Given the description of an element on the screen output the (x, y) to click on. 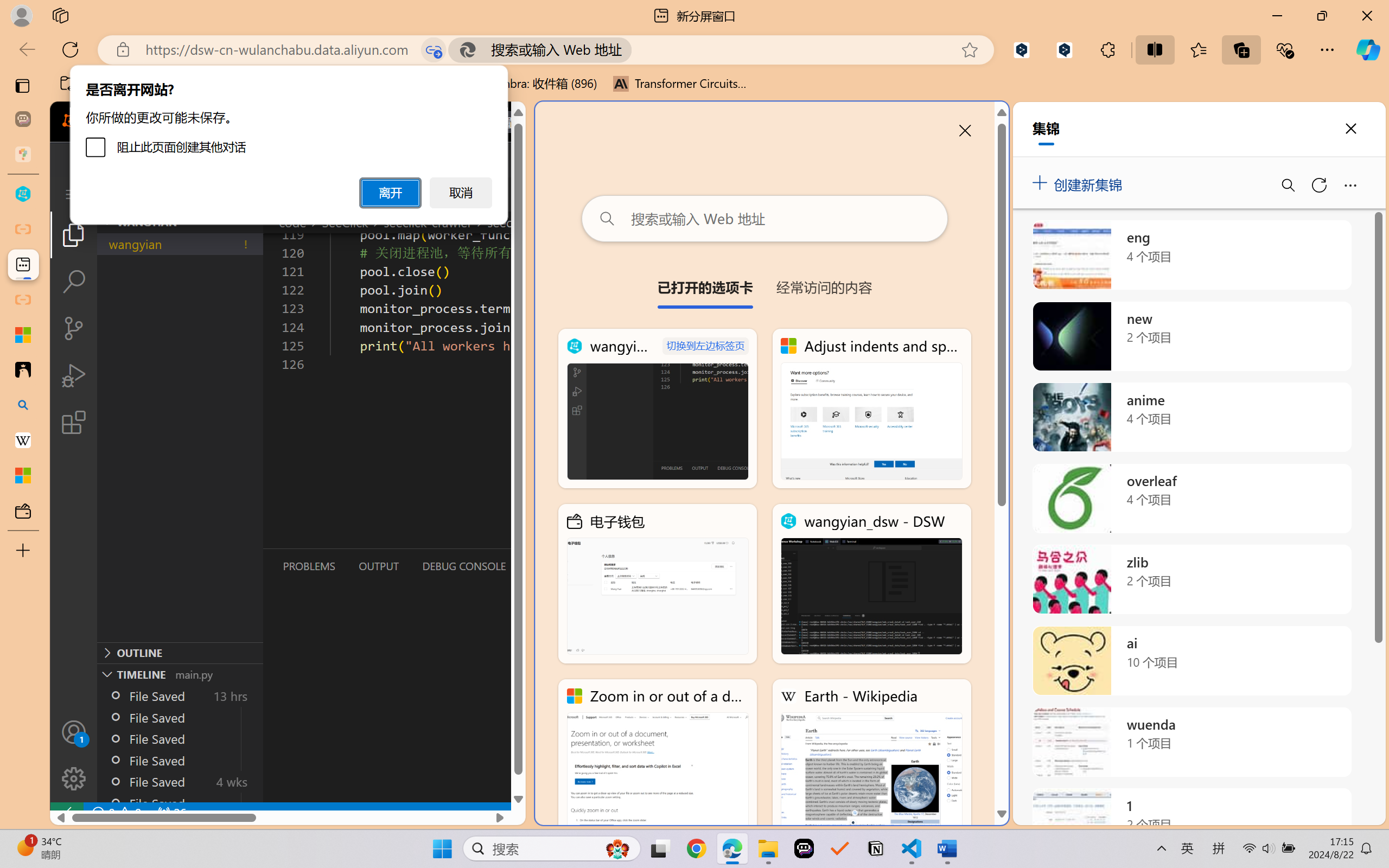
Manage (73, 778)
Debug Console (Ctrl+Shift+Y) (463, 565)
Timeline Section (179, 673)
